Given the description of an element on the screen output the (x, y) to click on. 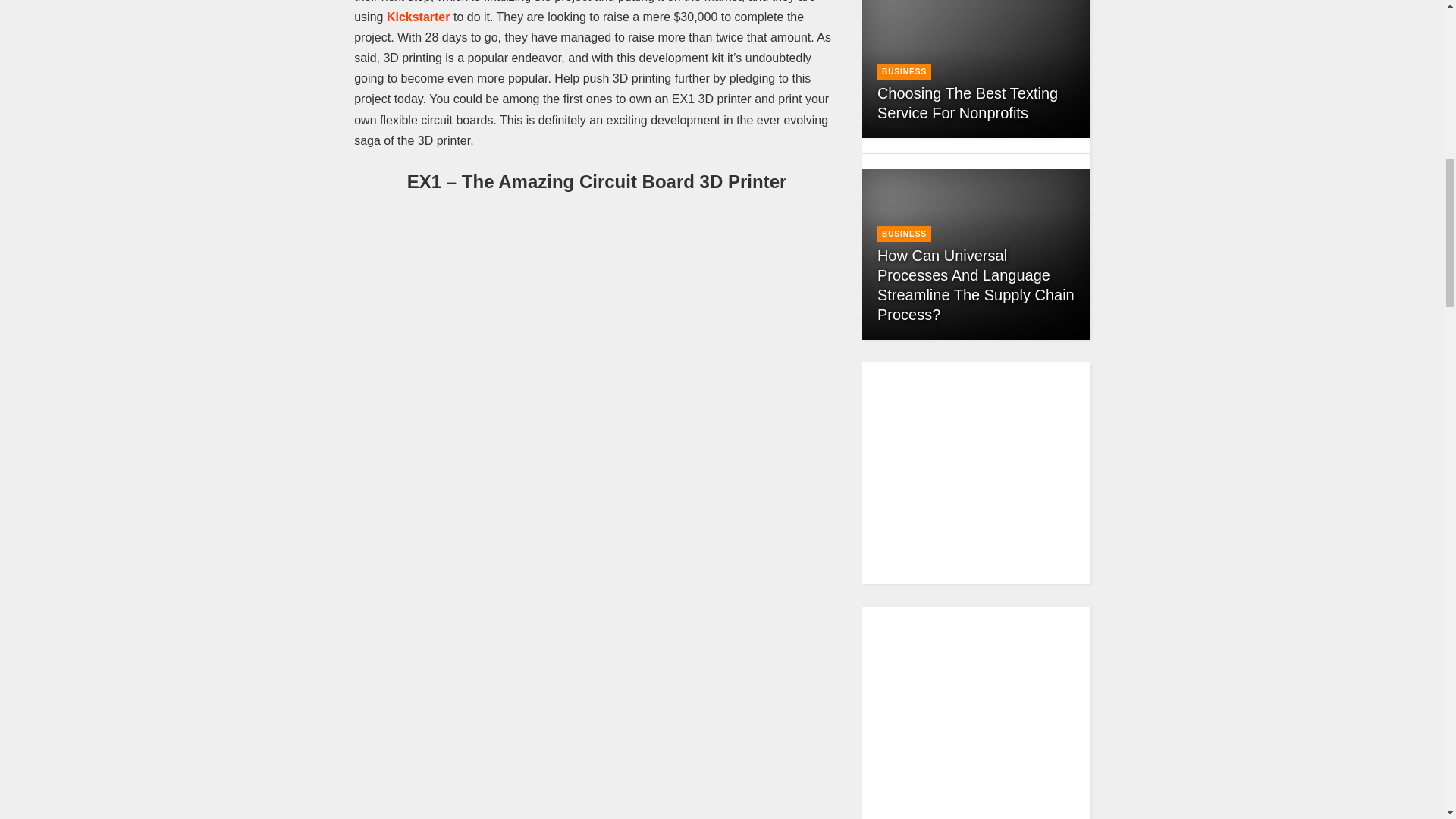
EX1 Circuit Board Printer (596, 648)
EX1 Circuit Board 3D Printer Kickstarter Campaign Page (418, 16)
EX1 Circuit Board Printer (596, 810)
